Given the description of an element on the screen output the (x, y) to click on. 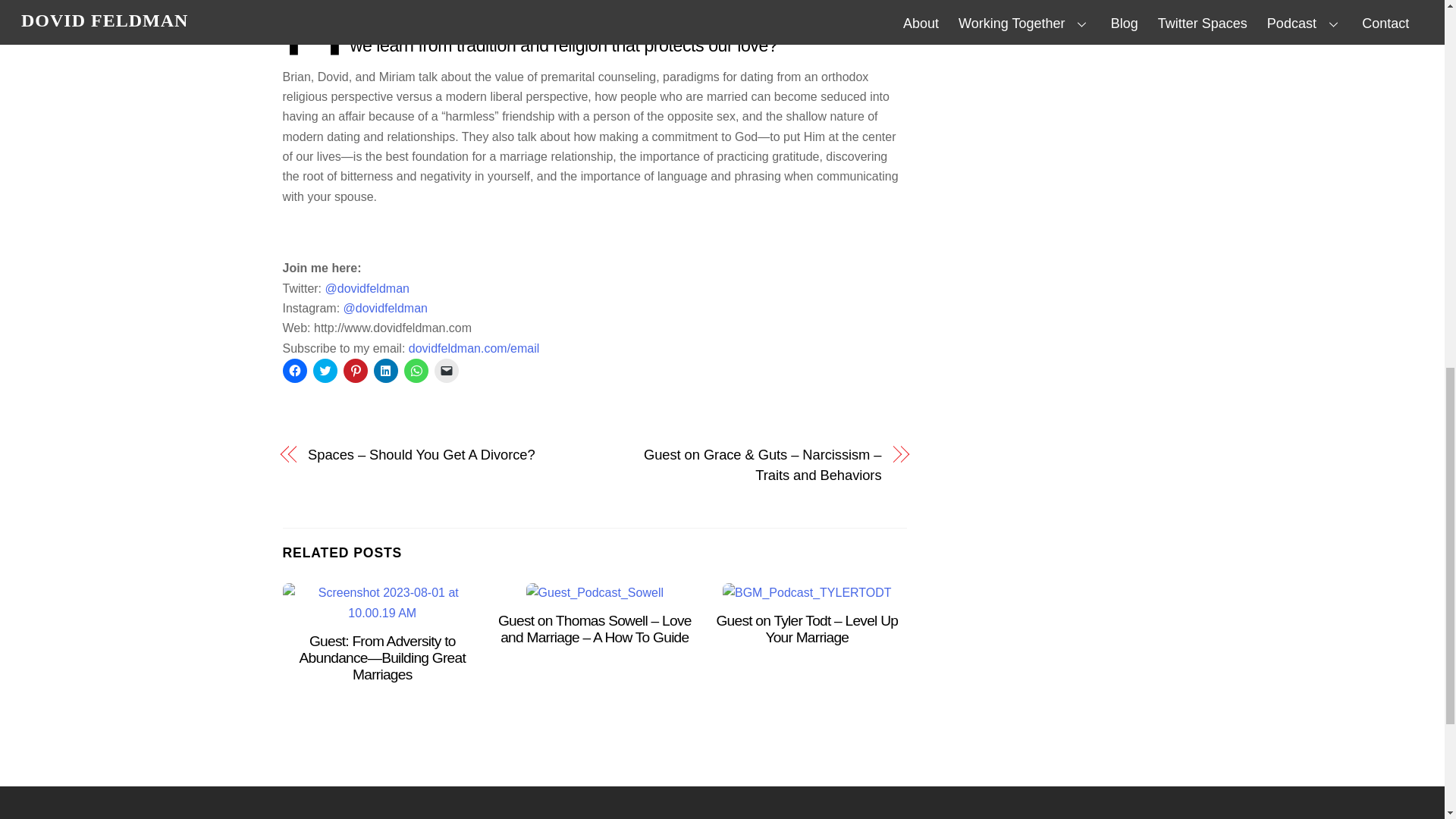
Click to share on Pinterest (354, 370)
Click to email a link to a friend (445, 370)
Screenshot 2023-08-01 at 10.00.19 AM (381, 603)
Click to share on WhatsApp (415, 370)
Click to share on Twitter (324, 370)
Click to share on Facebook (293, 370)
Click to share on LinkedIn (384, 370)
